Given the description of an element on the screen output the (x, y) to click on. 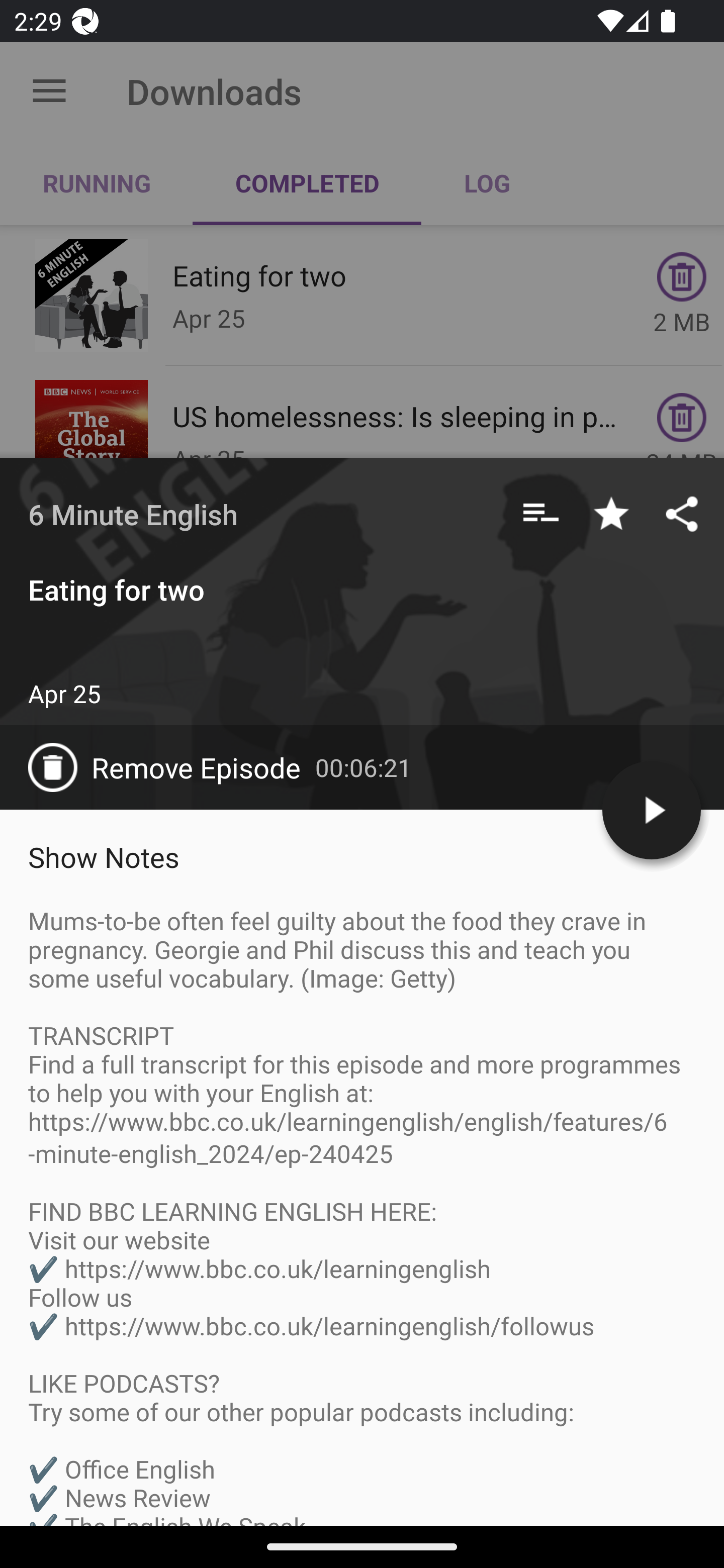
Remove Episode (171, 767)
